Given the description of an element on the screen output the (x, y) to click on. 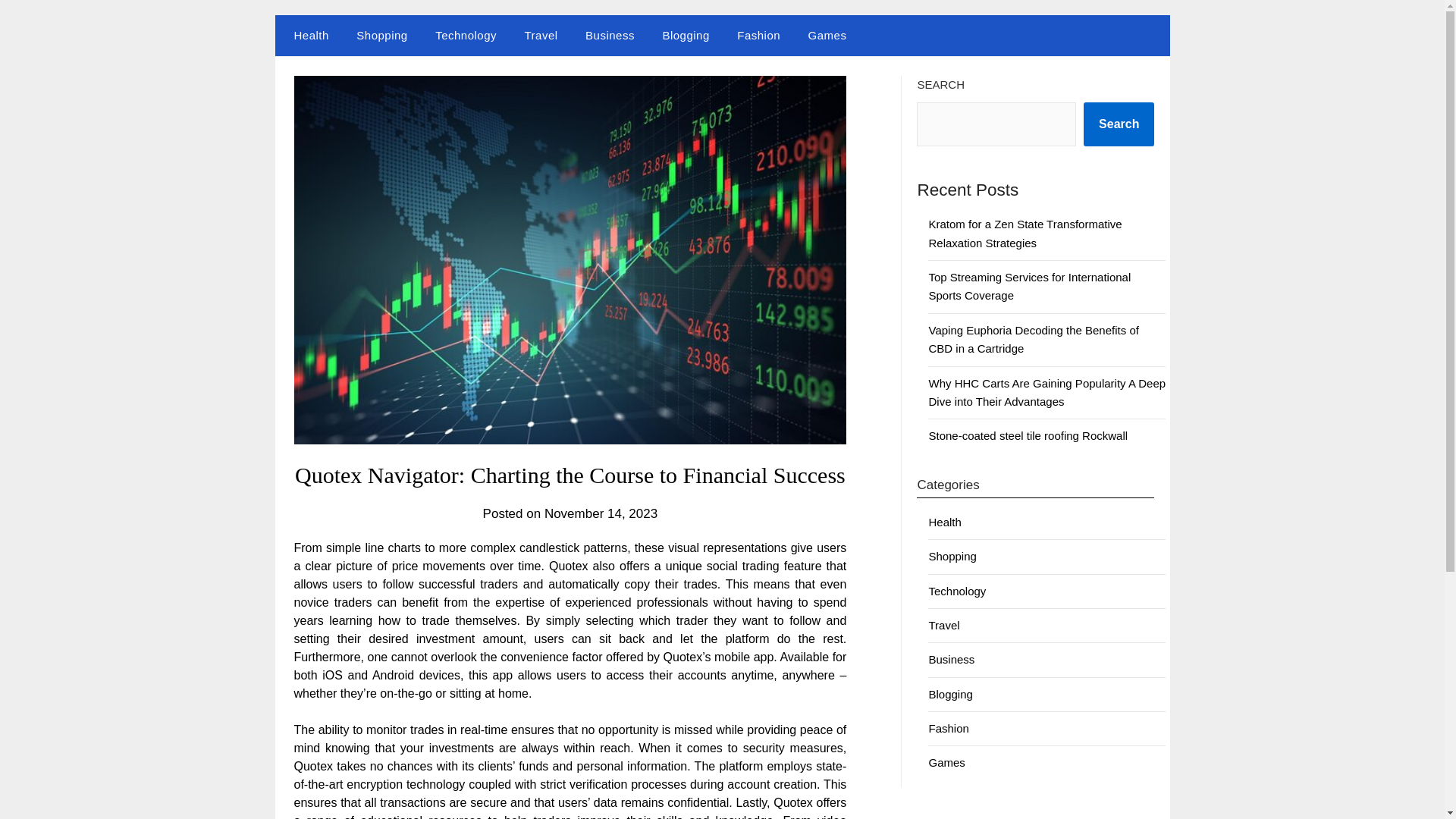
Shopping (381, 35)
Travel (943, 625)
Blogging (950, 694)
Vaping Euphoria Decoding the Benefits of CBD in a Cartridge (1033, 338)
Kratom for a Zen State Transformative Relaxation Strategies (1024, 232)
Technology (956, 590)
Business (951, 658)
Technology (465, 35)
Top Streaming Services for International Sports Coverage (1029, 286)
